Given the description of an element on the screen output the (x, y) to click on. 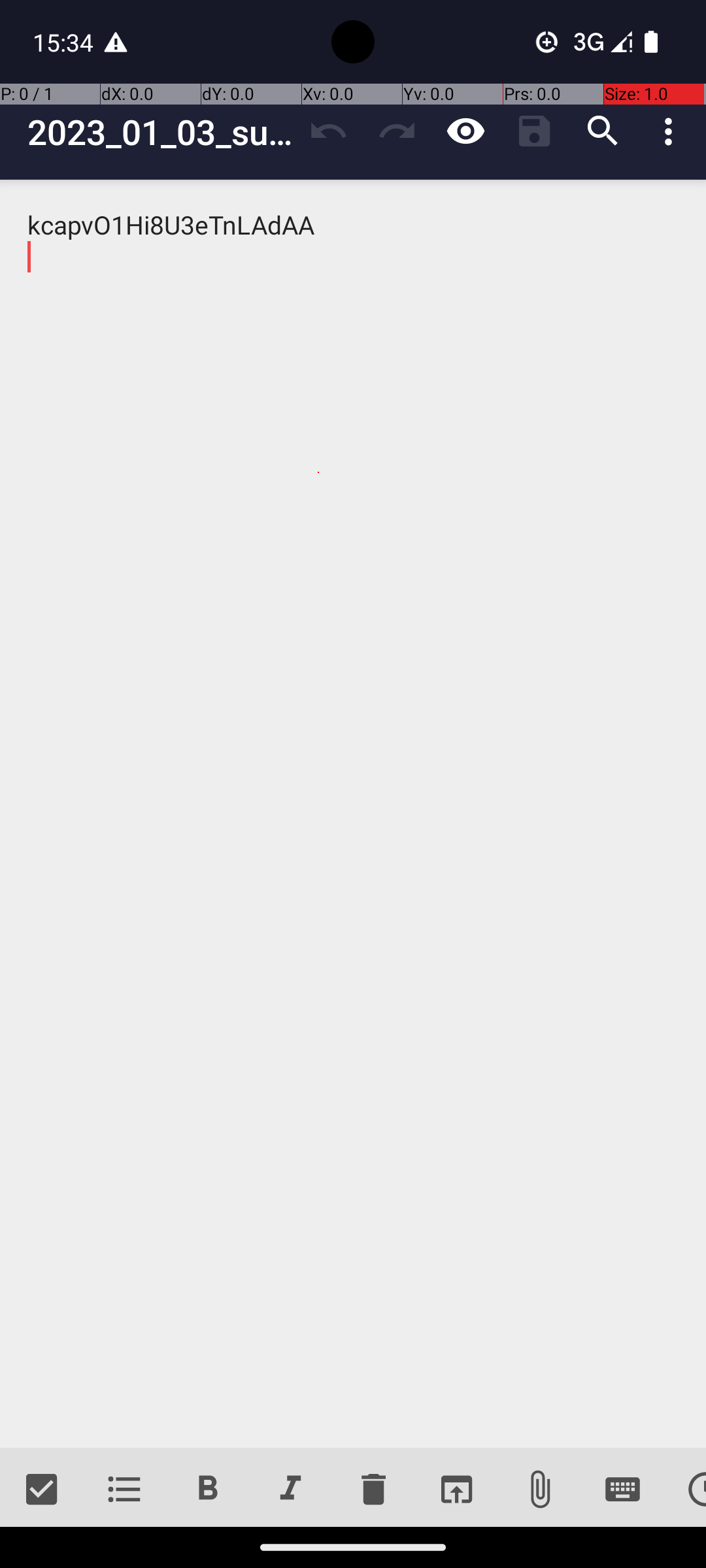
2023_01_03_summer_vacation_plans Element type: android.widget.TextView (160, 131)
kcapvO1Hi8U3eTnLAdAA
 Element type: android.widget.EditText (353, 813)
